Given the description of an element on the screen output the (x, y) to click on. 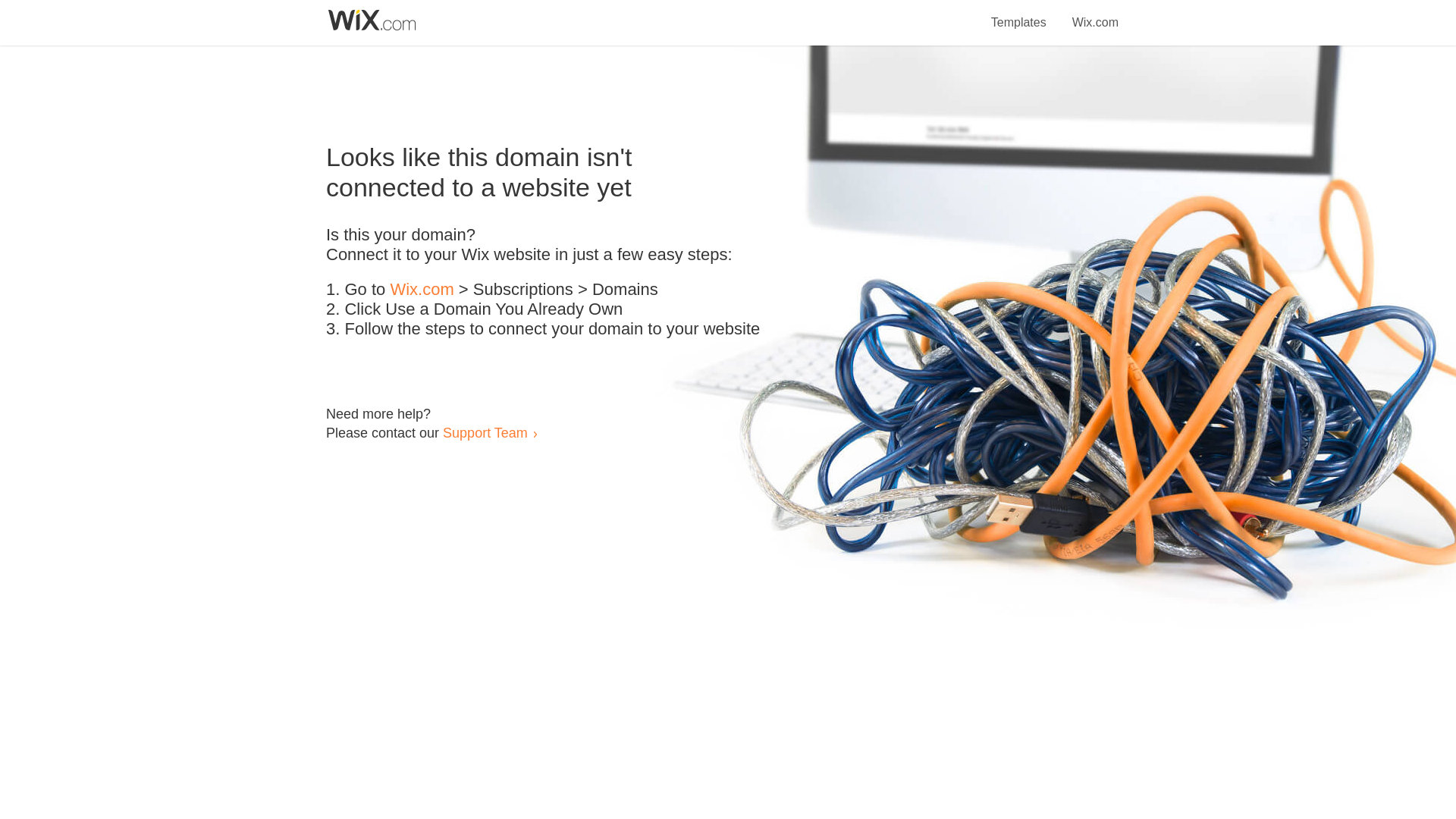
Templates (1018, 14)
Support Team (484, 432)
Wix.com (421, 289)
Wix.com (1095, 14)
